Given the description of an element on the screen output the (x, y) to click on. 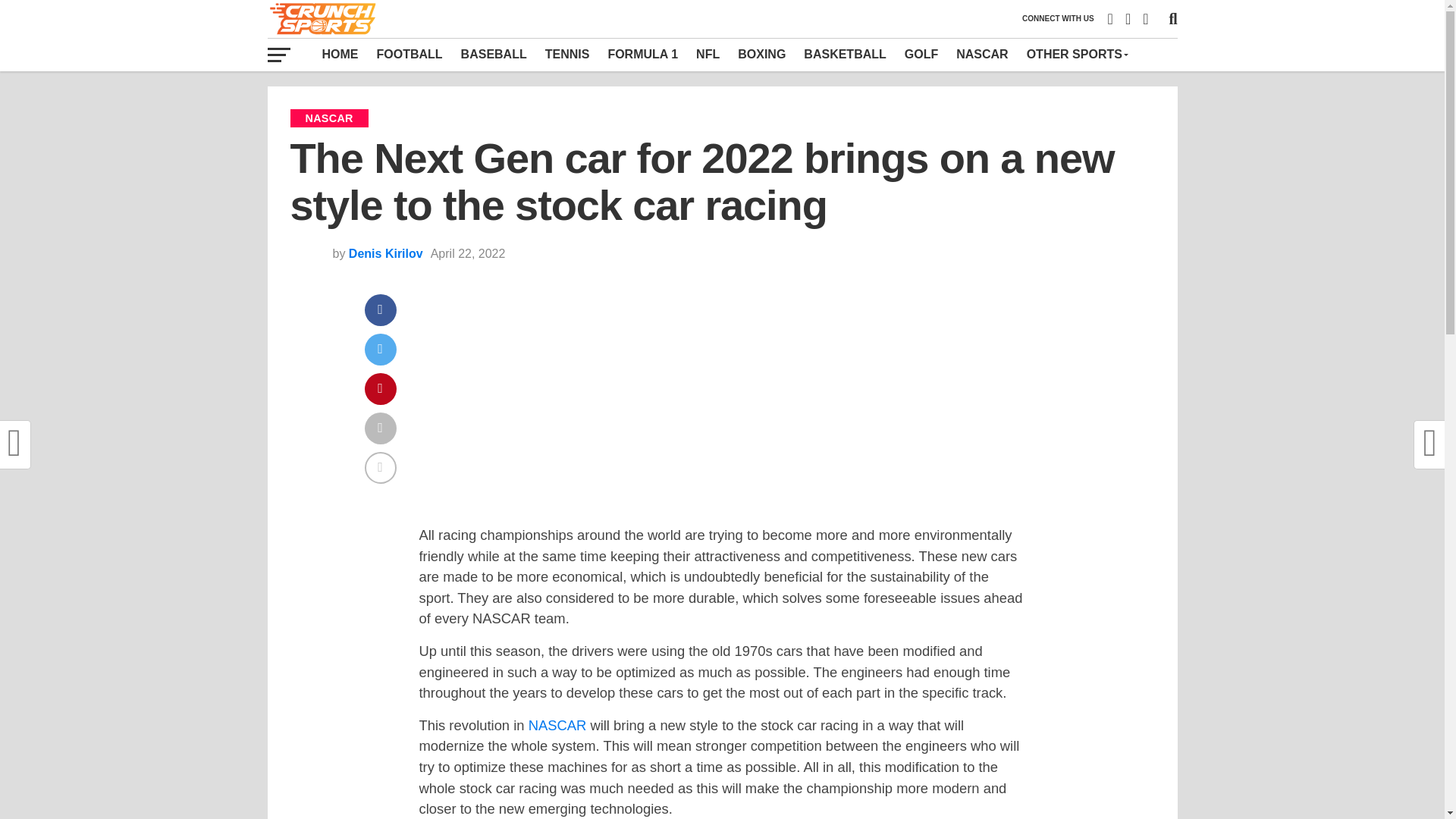
HOME (339, 54)
Posts by Denis Kirilov (386, 253)
NASCAR (557, 725)
FOOTBALL (408, 54)
